Given the description of an element on the screen output the (x, y) to click on. 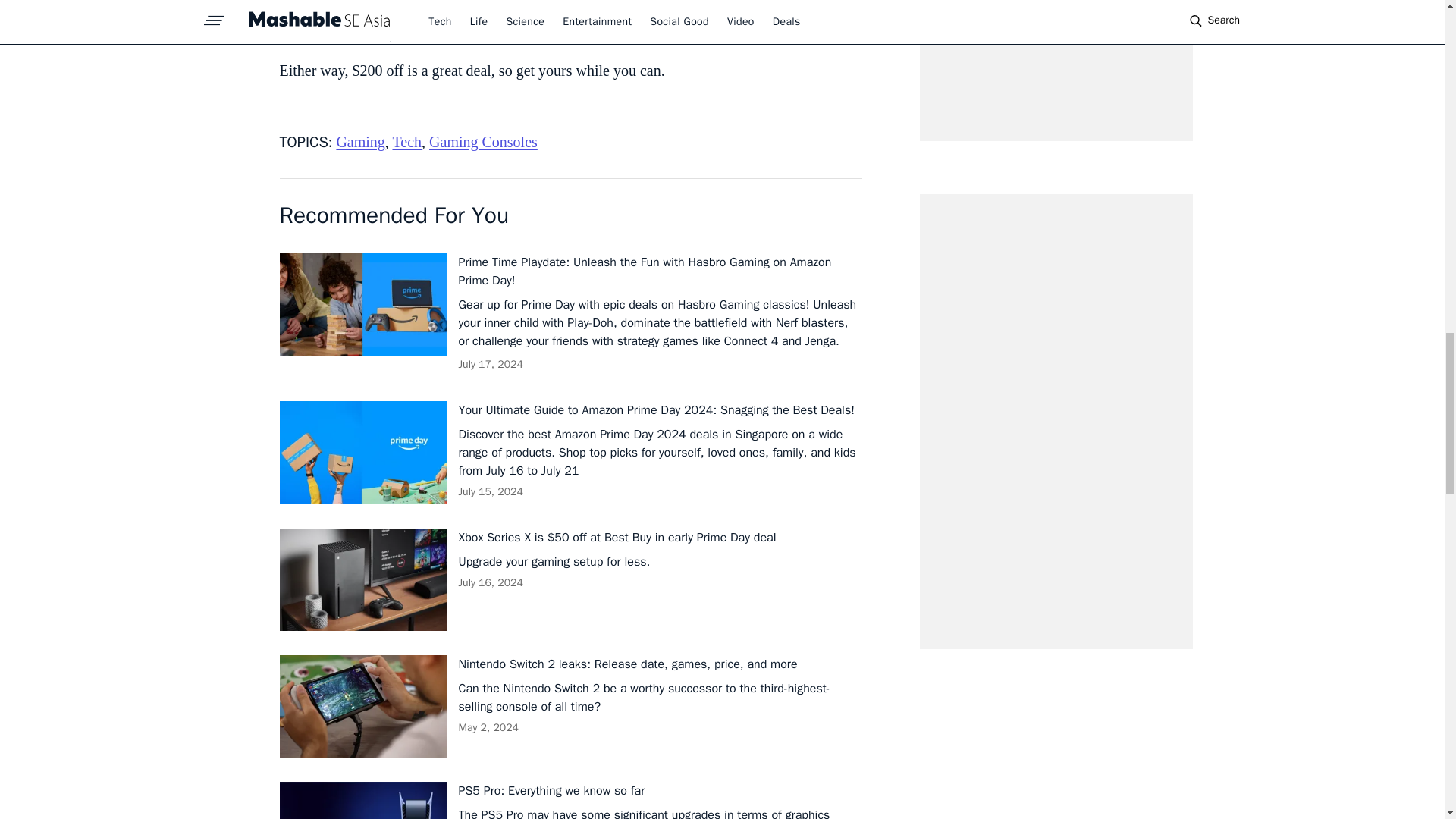
Gaming Consoles (483, 141)
Tech (406, 141)
Gaming (360, 141)
